Given the description of an element on the screen output the (x, y) to click on. 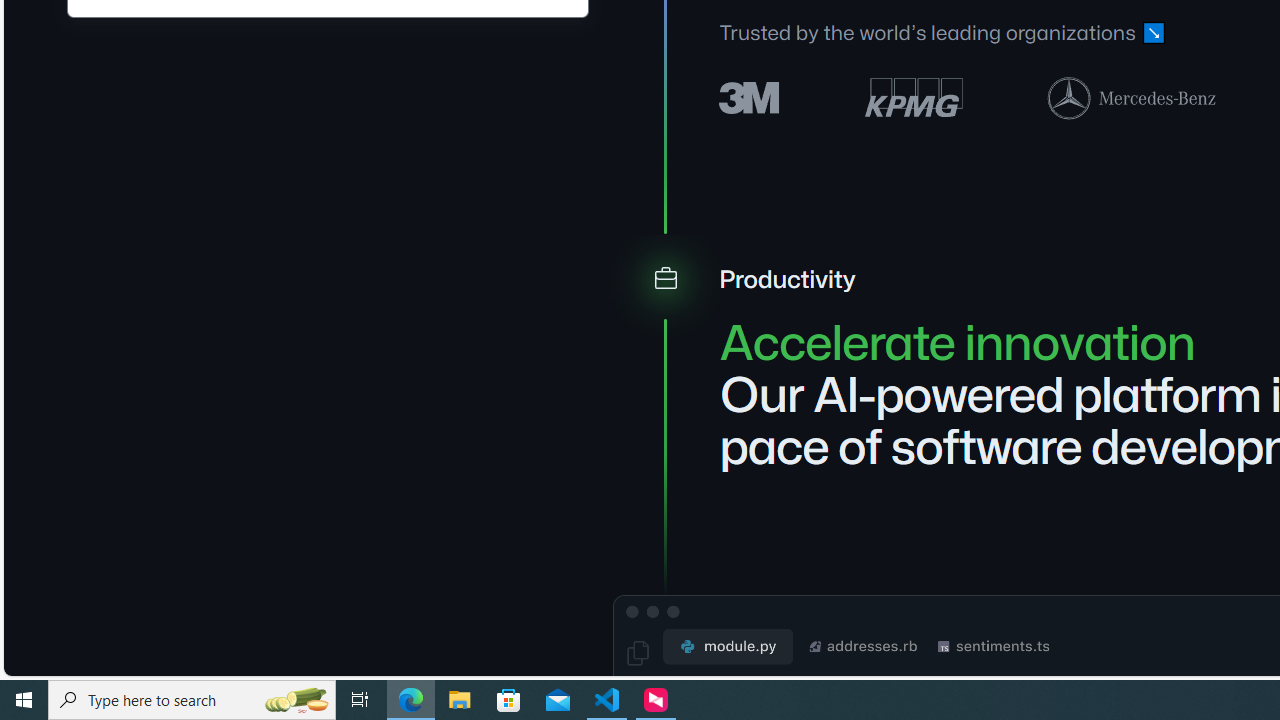
KPMG logo (913, 97)
3M logo (749, 96)
Mercedes-Benz logo (1132, 97)
